Given the description of an element on the screen output the (x, y) to click on. 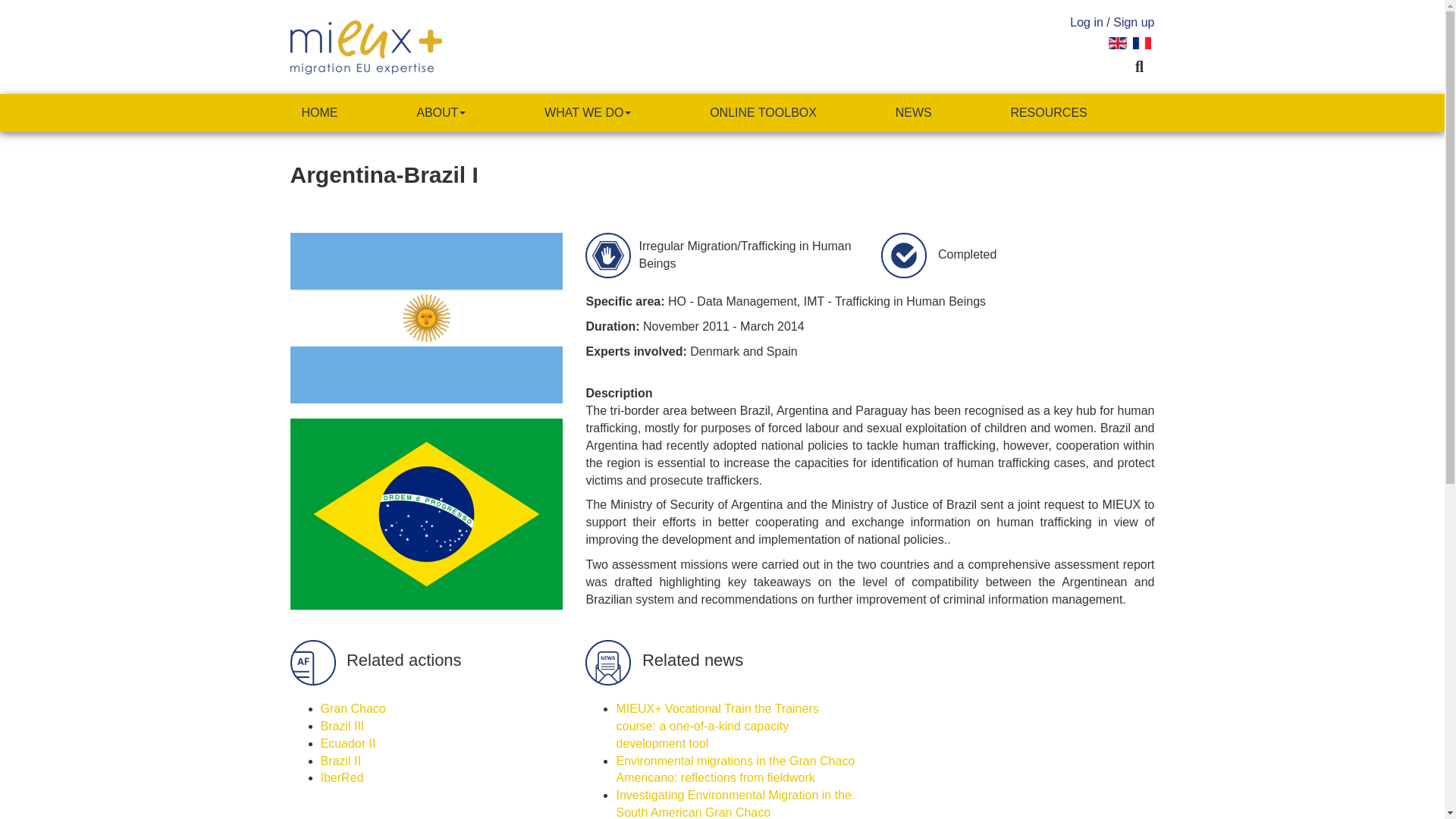
Log in (1086, 21)
Sign up (1133, 21)
HOME (319, 112)
ABOUT (440, 112)
